Given the description of an element on the screen output the (x, y) to click on. 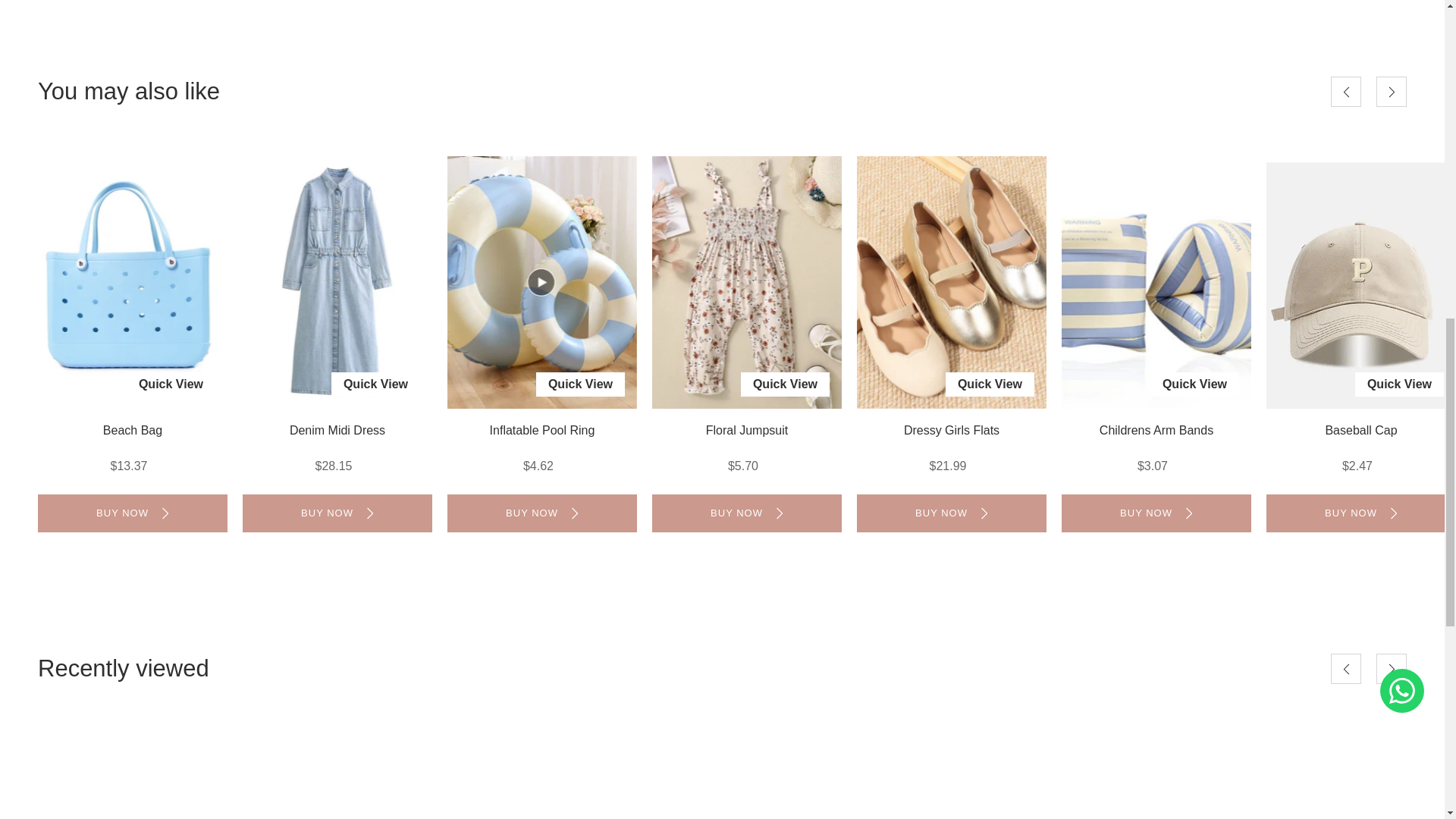
Childrens Arm Bands (1155, 282)
Dressy Girls Flats (951, 282)
Beach Bag (132, 282)
Inflatable Pool Ring (541, 282)
Denim Midi Dress (337, 282)
Floral Jumpsuit (746, 282)
